Given the description of an element on the screen output the (x, y) to click on. 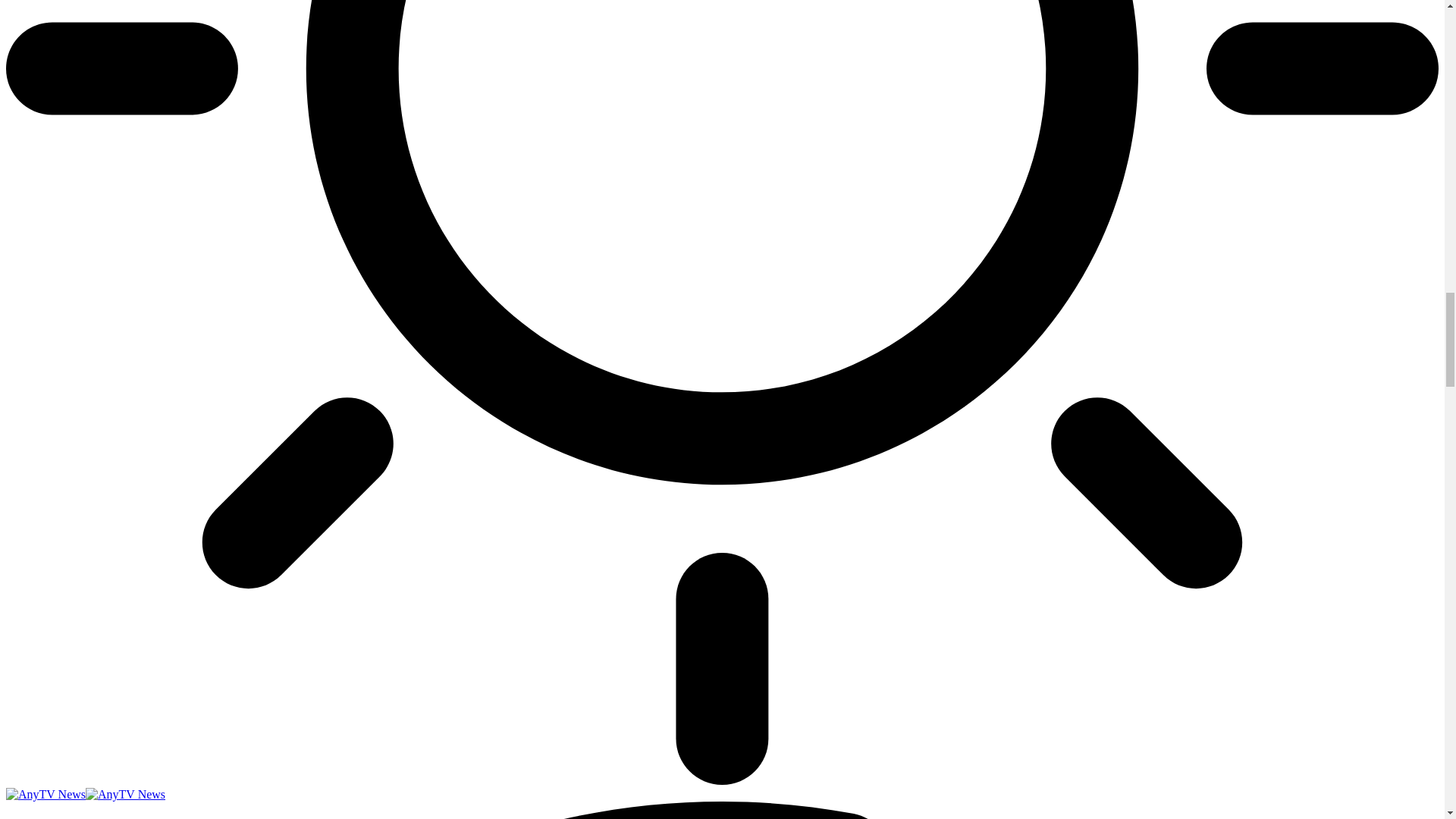
AnyTV News (85, 793)
